Given the description of an element on the screen output the (x, y) to click on. 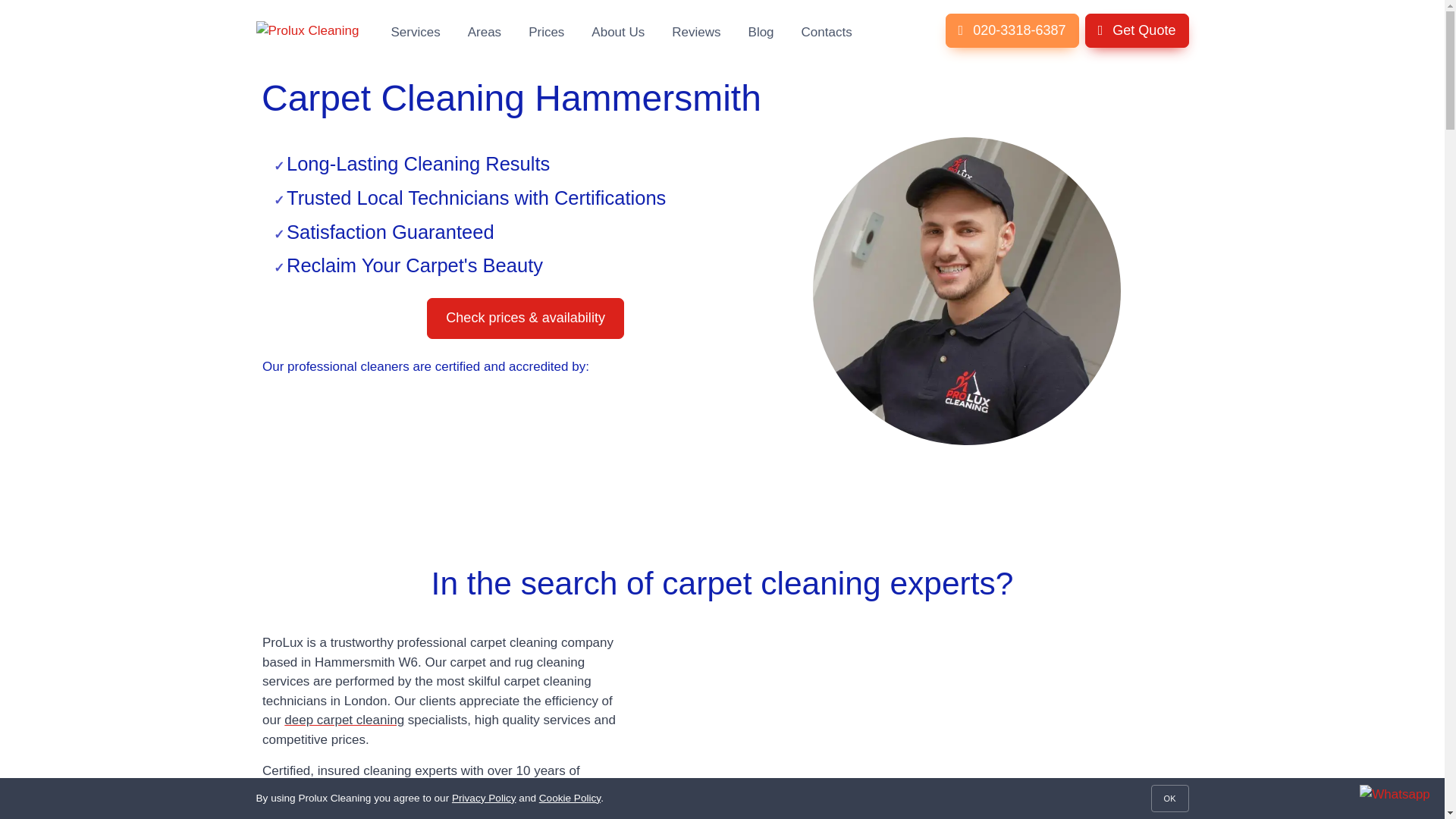
Services (415, 31)
Reviews (695, 31)
Prices (546, 31)
Blog (761, 31)
deep carpet cleaning (343, 719)
About Us (618, 31)
020-3318-6387 (1011, 30)
Get Quote (1136, 30)
Contacts (826, 31)
Areas (484, 31)
